Given the description of an element on the screen output the (x, y) to click on. 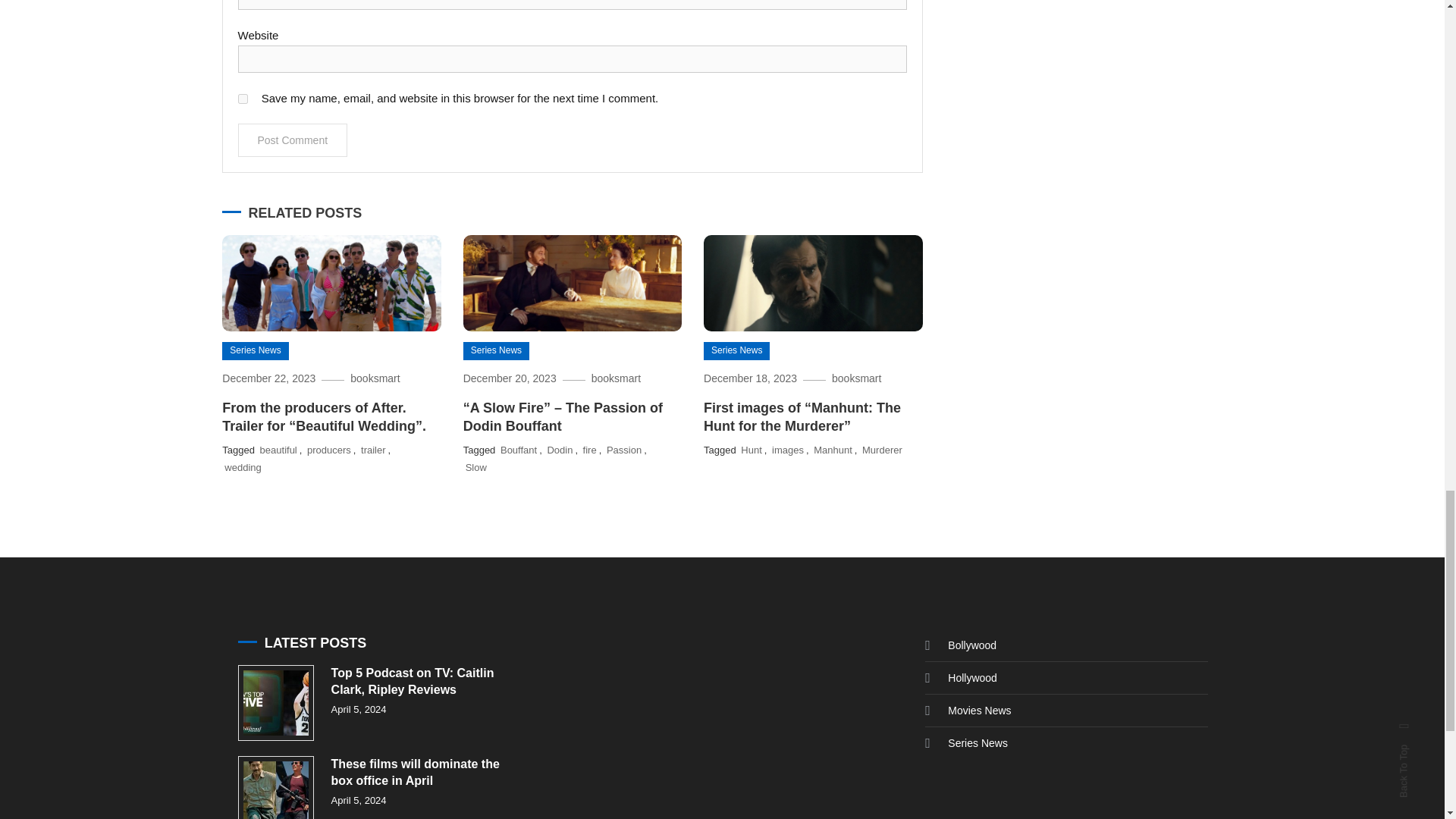
Top 5 Podcast on TV: Caitlin Clark, Ripley Reviews (276, 703)
yes (242, 99)
Post Comment (292, 140)
These films will dominate the box office in April (276, 787)
